Given the description of an element on the screen output the (x, y) to click on. 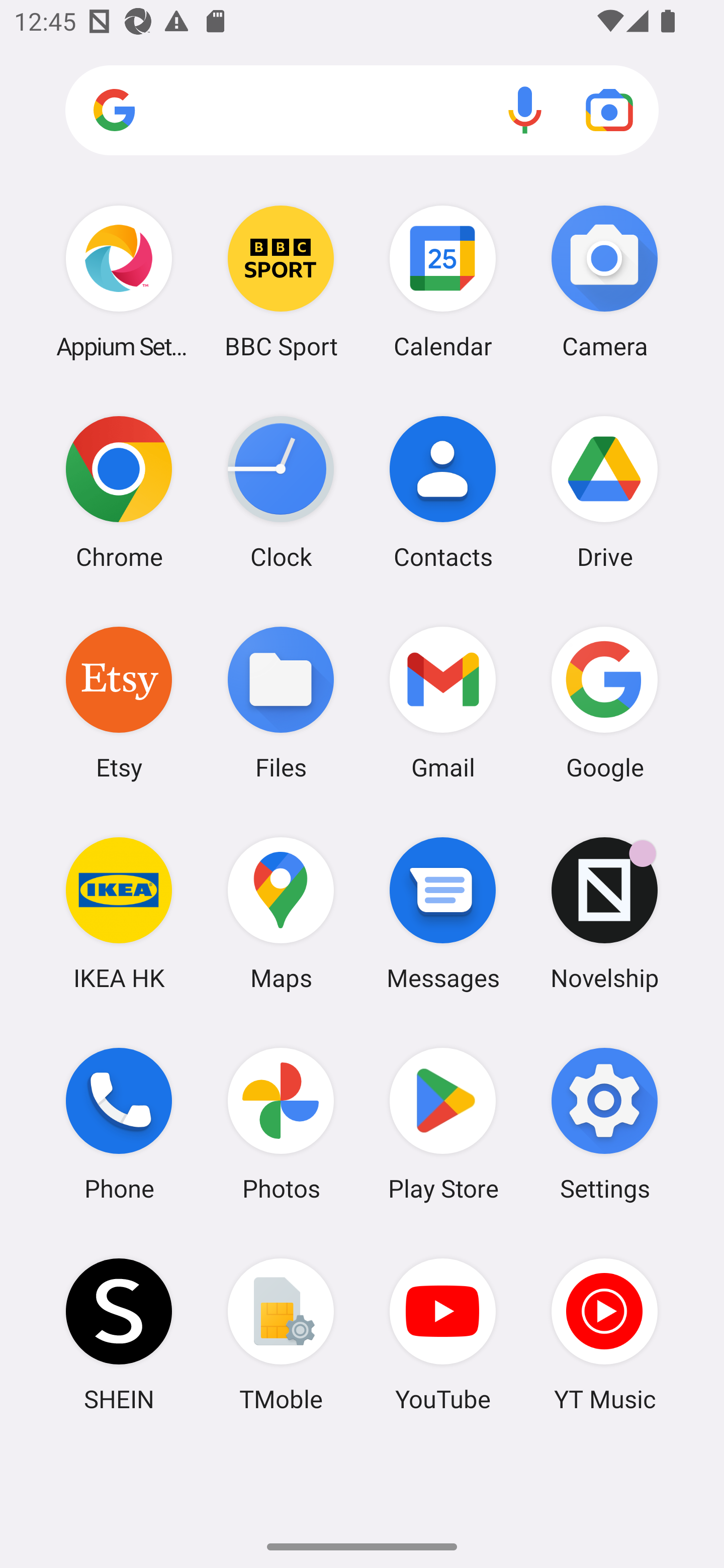
Search apps, web and more (361, 110)
Voice search (524, 109)
Google Lens (608, 109)
Appium Settings (118, 281)
BBC Sport (280, 281)
Calendar (443, 281)
Camera (604, 281)
Chrome (118, 492)
Clock (280, 492)
Contacts (443, 492)
Drive (604, 492)
Etsy (118, 702)
Files (280, 702)
Gmail (443, 702)
Google (604, 702)
IKEA HK (118, 913)
Maps (280, 913)
Messages (443, 913)
Novelship Novelship has 7 notifications (604, 913)
Phone (118, 1124)
Photos (280, 1124)
Play Store (443, 1124)
Settings (604, 1124)
SHEIN (118, 1334)
TMoble (280, 1334)
YouTube (443, 1334)
YT Music (604, 1334)
